Given the description of an element on the screen output the (x, y) to click on. 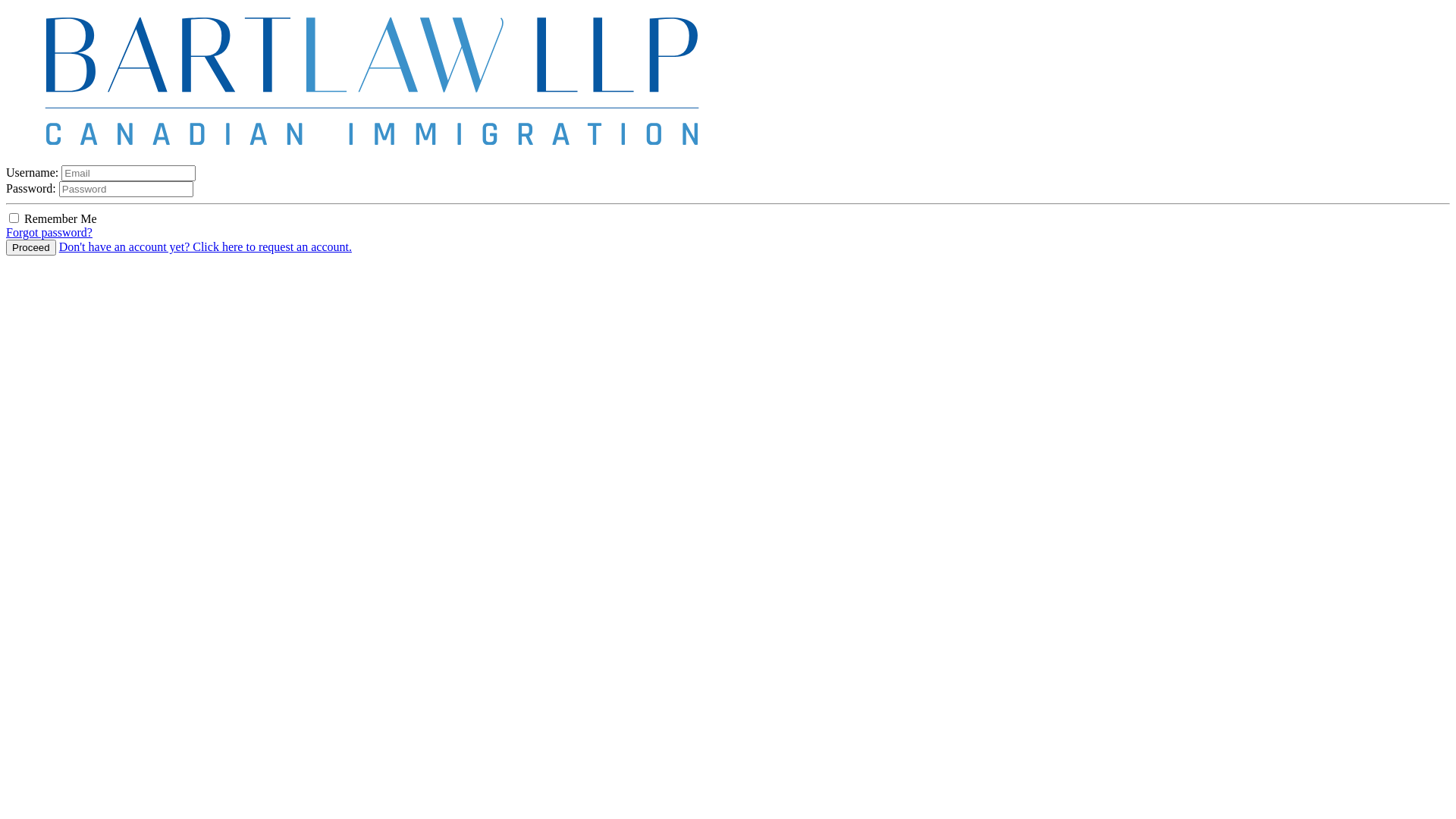
Proceed Element type: text (31, 247)
Forgot password? Element type: text (49, 231)
Don't have an account yet? Click here to request an account. Element type: text (205, 246)
